Given the description of an element on the screen output the (x, y) to click on. 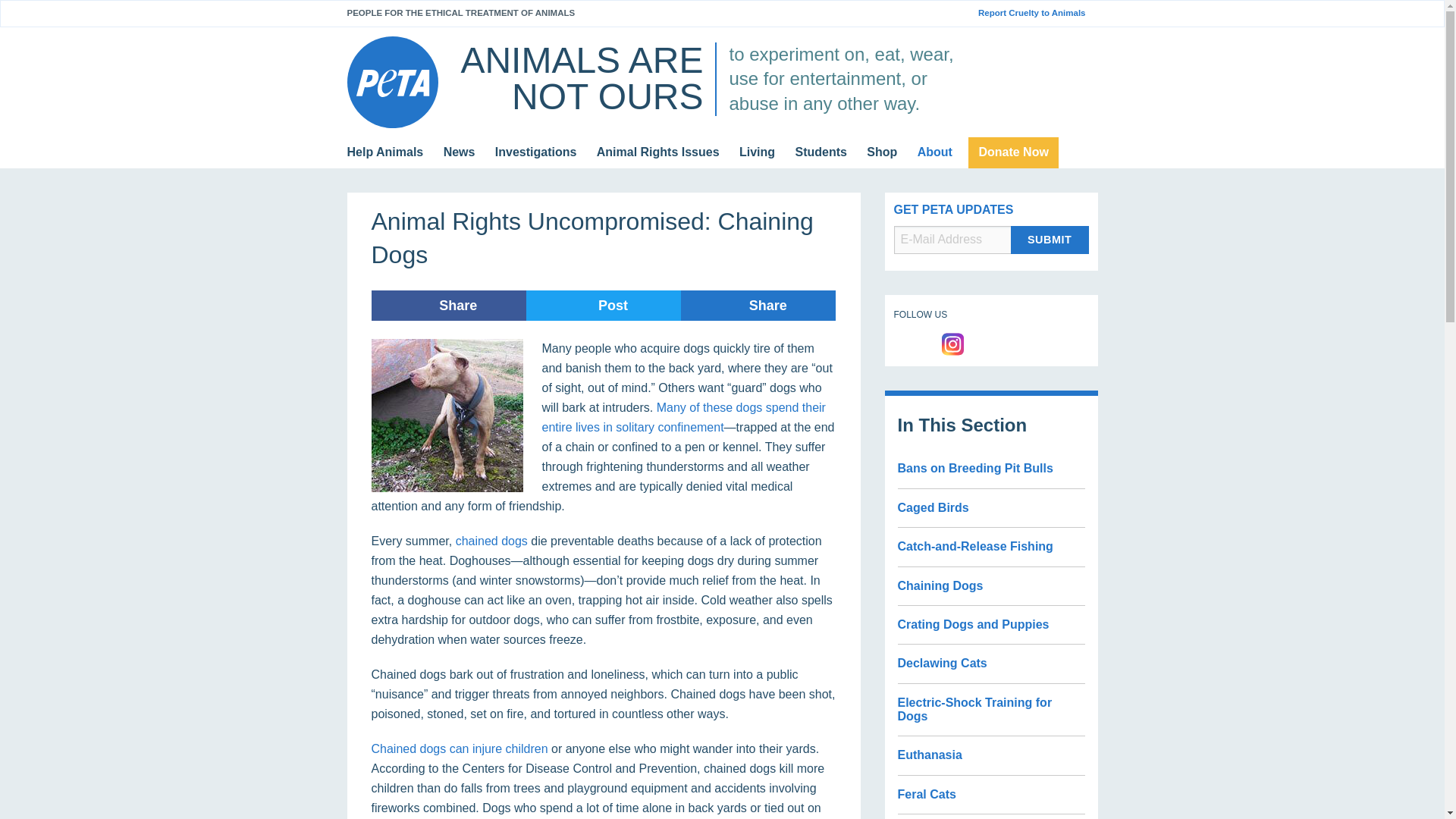
ANIMALS ARE NOT OURS (581, 78)
Report Cruelty to Animals (1037, 13)
Submit (1049, 239)
PEOPLE FOR THE ETHICAL TREATMENT OF ANIMALS (461, 13)
